Given the description of an element on the screen output the (x, y) to click on. 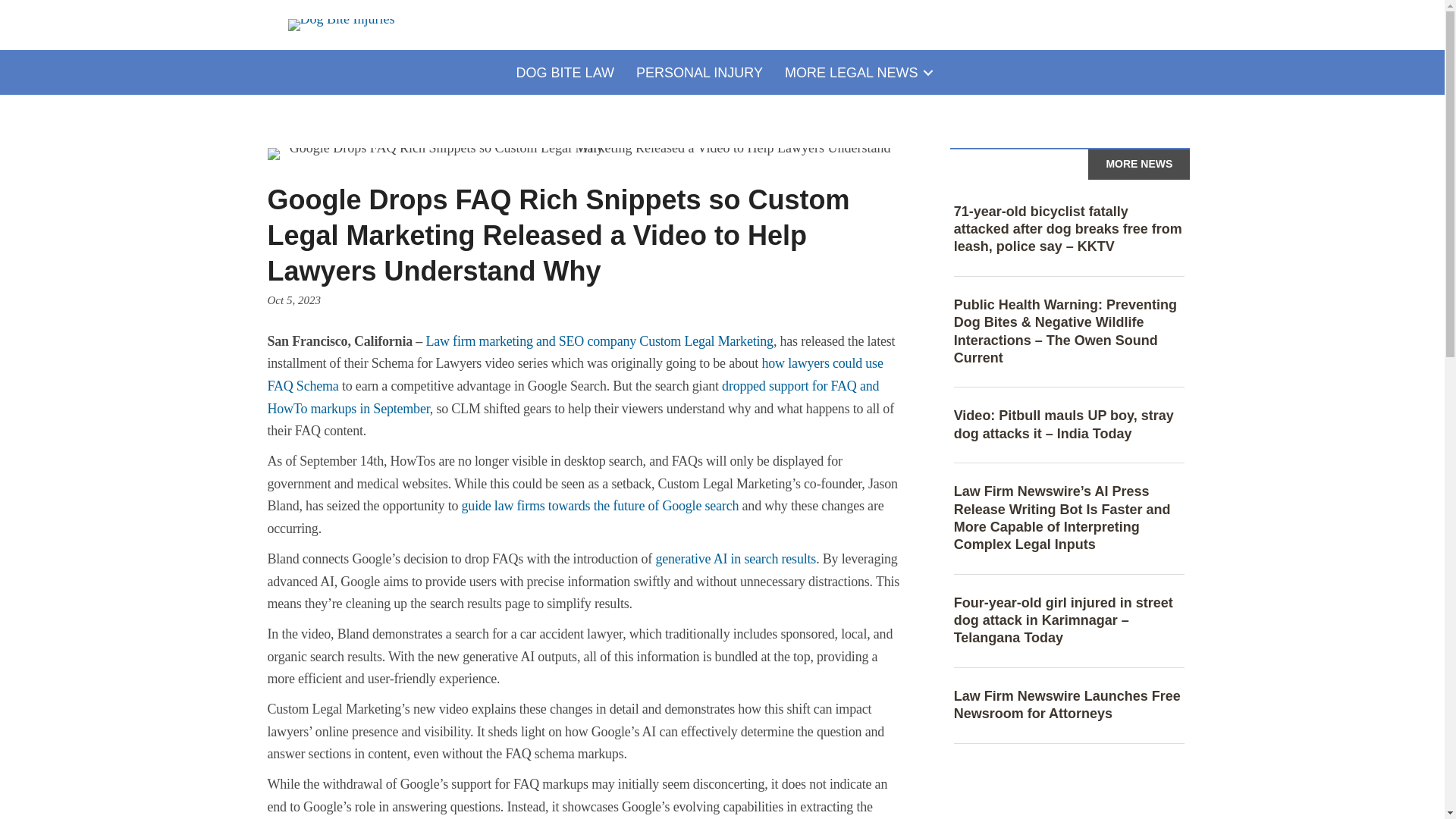
MORE LEGAL NEWS (856, 72)
PERSONAL INJURY (699, 72)
Law firm marketing and SEO company Custom Legal Marketing (599, 340)
how lawyers could use FAQ Schema (574, 374)
Dog Bite Injuries (341, 24)
Law Firm Newswire Launches Free Newsroom for Attorneys (1066, 704)
DOG BITE LAW (564, 72)
